Given the description of an element on the screen output the (x, y) to click on. 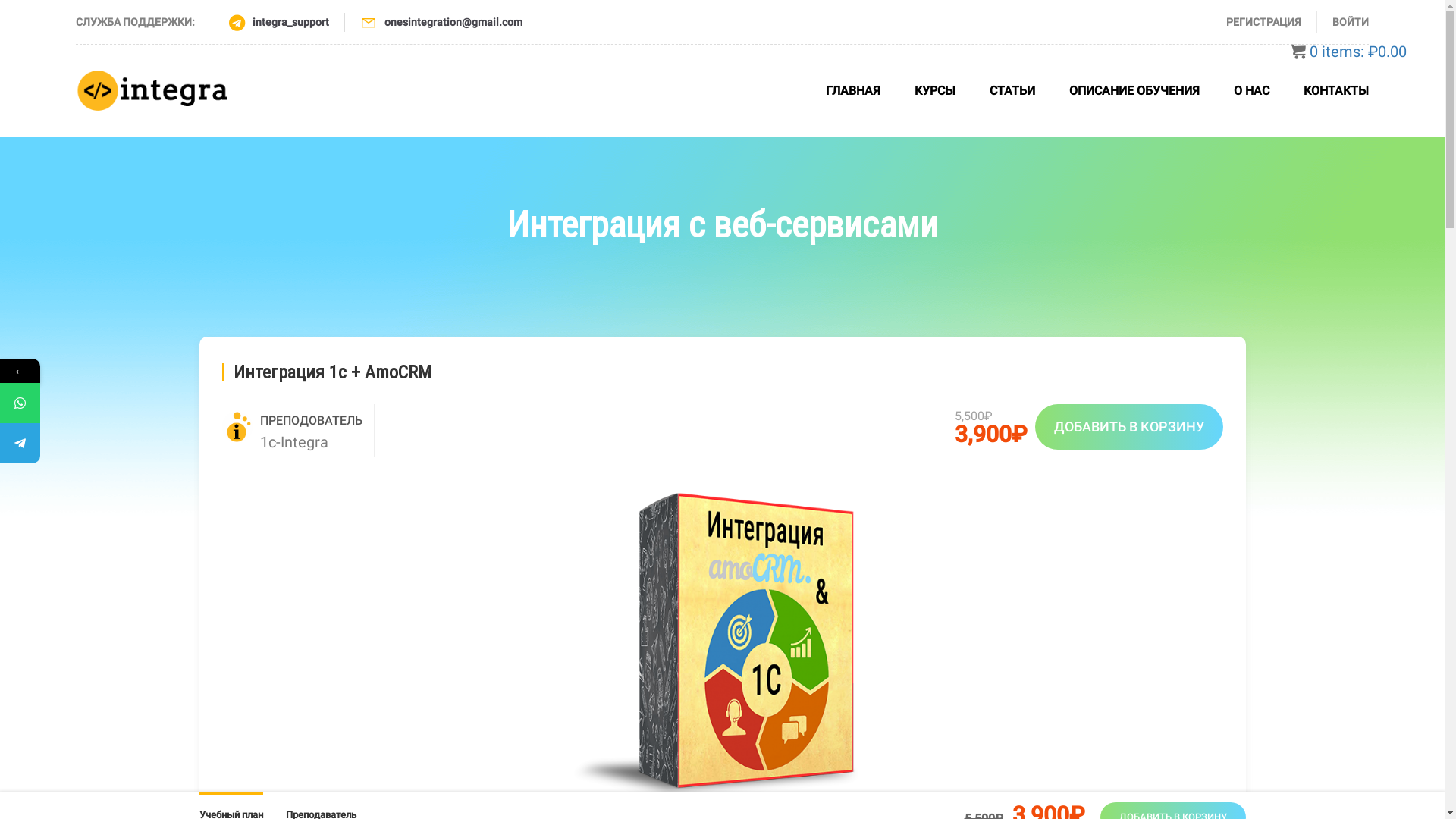
Sign up Element type: text (907, 446)
onesintegration@gmail.com Element type: text (453, 21)
integra_support Element type: text (290, 21)
Telegram Element type: text (92, 443)
AMO CRM Element type: hover (721, 644)
WhatsApp Element type: text (92, 402)
1c-Integra Element type: text (293, 442)
